Given the description of an element on the screen output the (x, y) to click on. 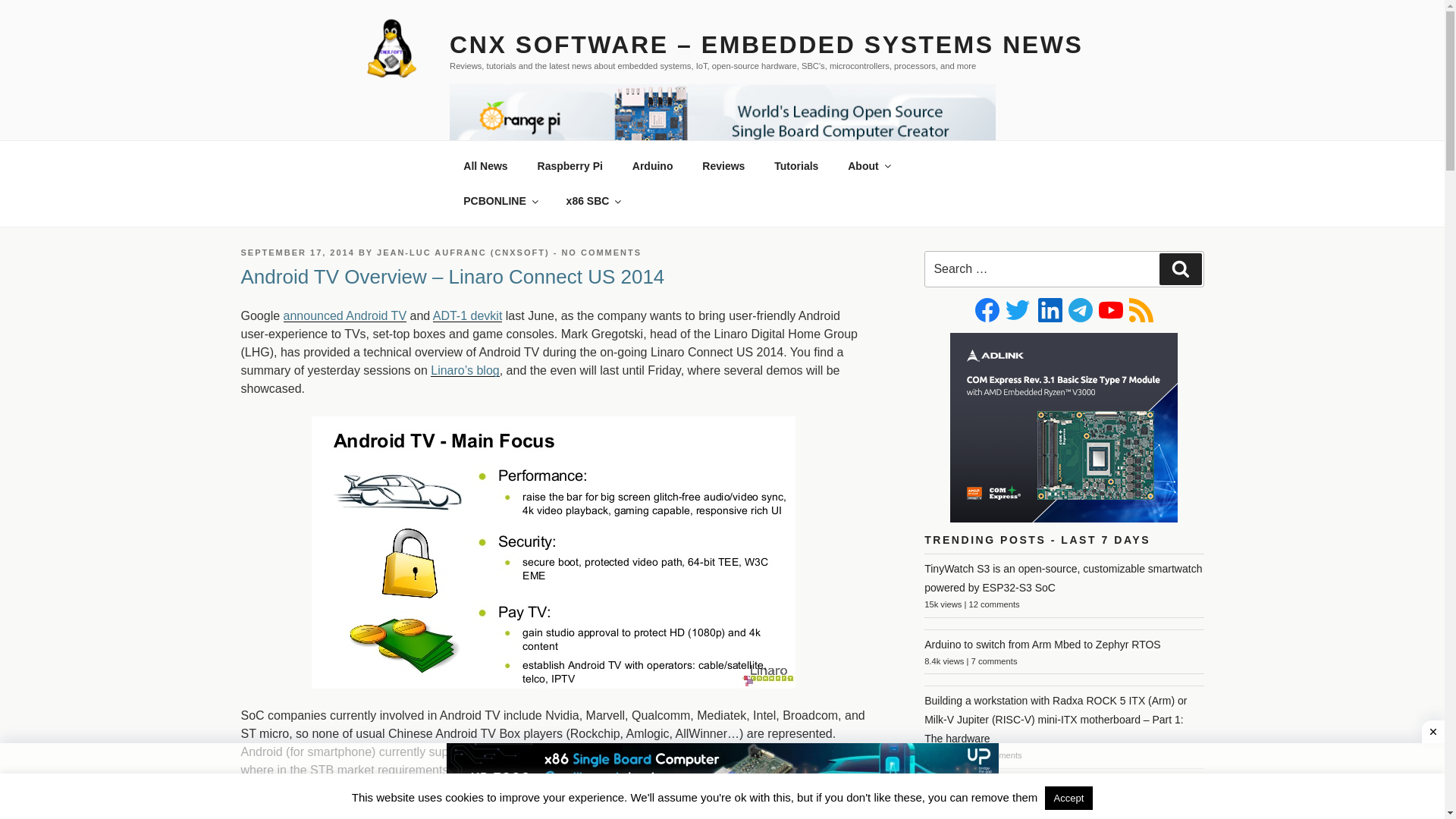
All News (485, 165)
Reviews (723, 165)
Purchase PCBs from our sponsor (499, 200)
About (868, 165)
Arduino (651, 165)
x86 SBC (593, 200)
announced Android TV (345, 315)
Tutorials (796, 165)
Raspberry Pi (569, 165)
SEPTEMBER 17, 2014 (298, 252)
PCBONLINE (499, 200)
ADT-1 devkit (467, 315)
